Given the description of an element on the screen output the (x, y) to click on. 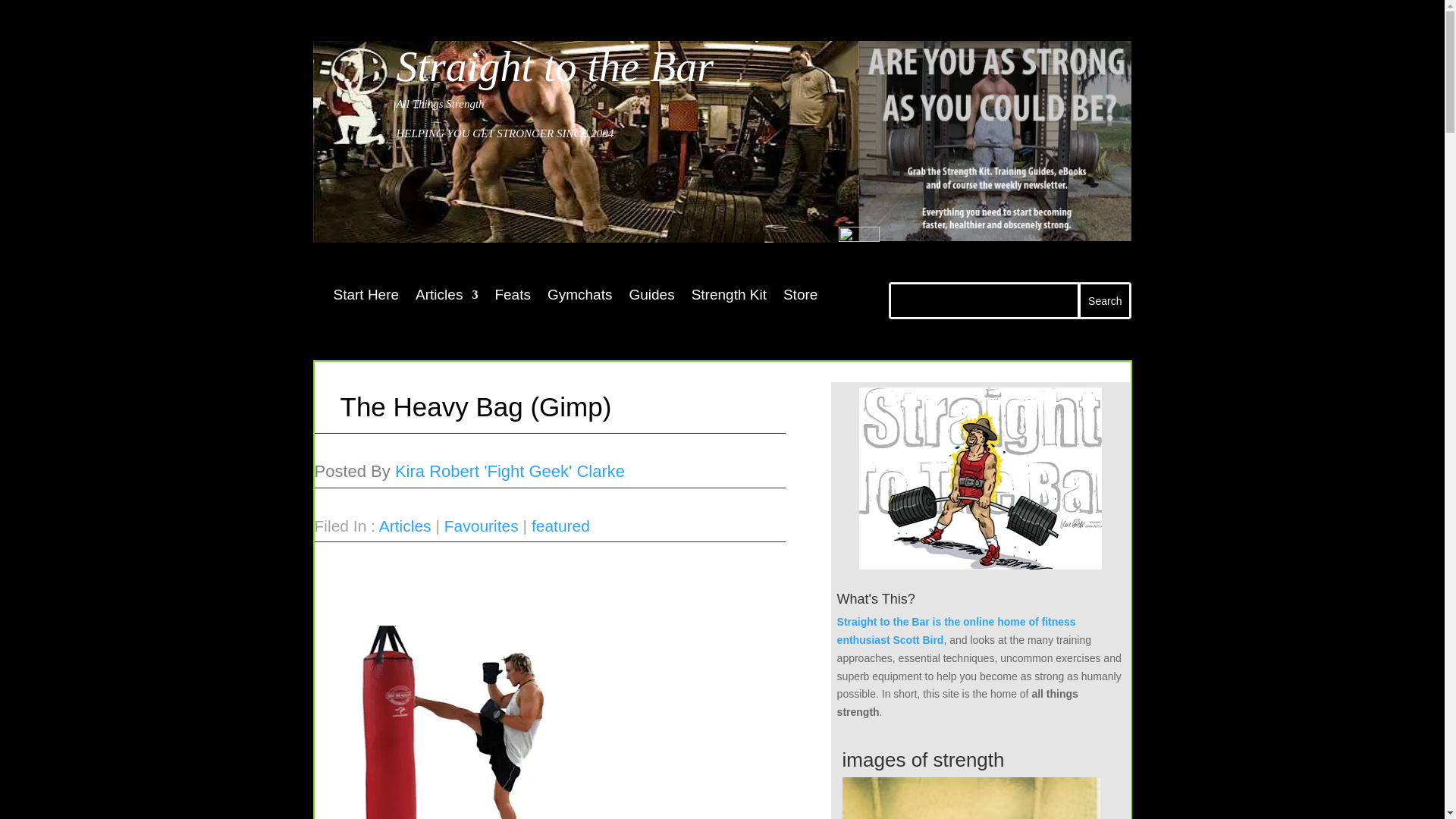
Search (1104, 300)
Kira Robert 'Fight Geek' Clarke (509, 470)
Gymchats (579, 297)
Articles (445, 297)
Jim Bradley bag (452, 722)
Search (1104, 300)
Store (799, 297)
Start Here (365, 297)
Strength Kit (729, 297)
Feats (513, 297)
Search (1104, 300)
featured (560, 525)
Favourites (481, 525)
SttB-Strength-Kit (995, 140)
Guides (651, 297)
